Given the description of an element on the screen output the (x, y) to click on. 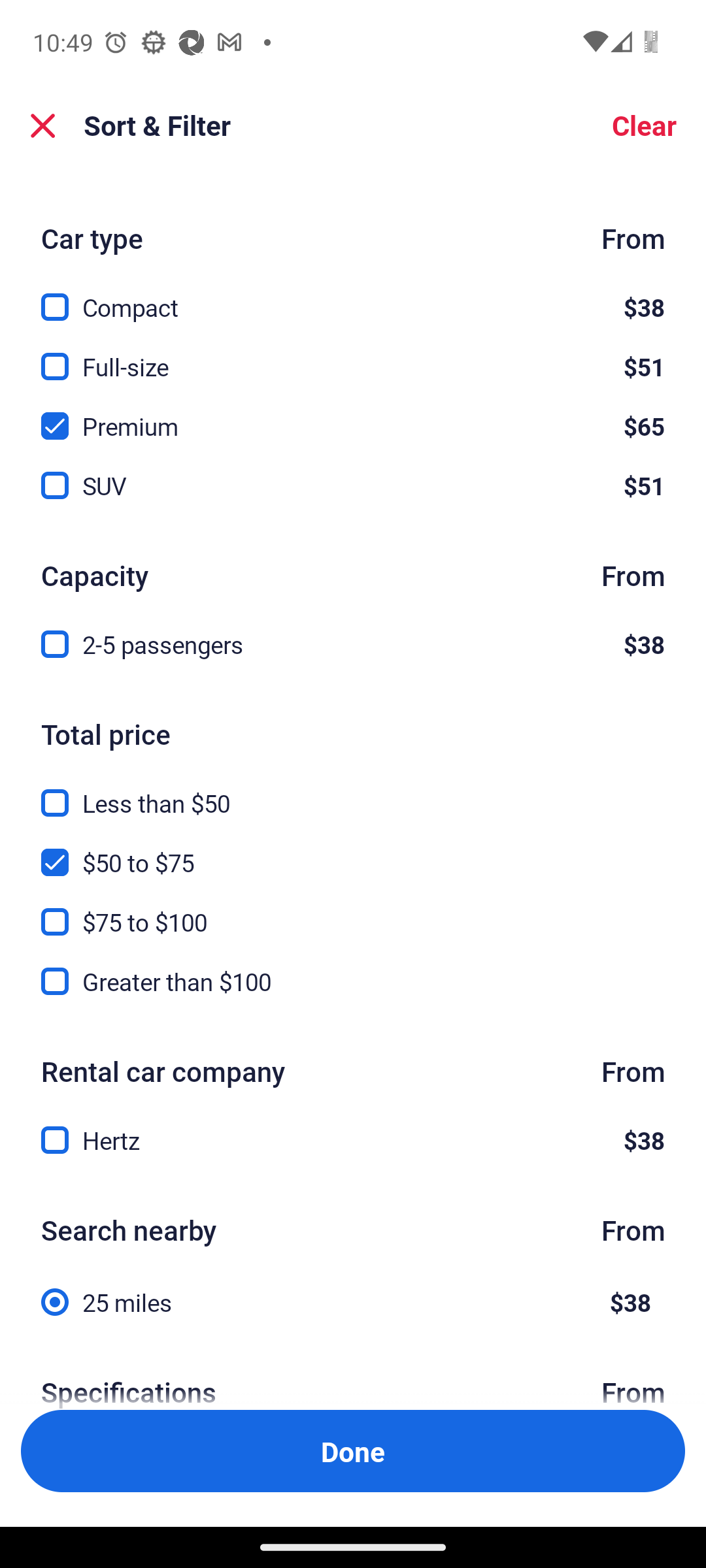
Clear (643, 125)
Close Sort and Filter (43, 125)
Compact, $38 Compact $38 (352, 296)
Full-size, $51 Full-size $51 (352, 355)
Premium, $65 Premium $65 (352, 415)
SUV, $51 SUV $51 (352, 485)
2-5 passengers, $38 2-5 passengers $38 (352, 644)
Less than $50, Less than $50 (352, 791)
$50 to $75, $50 to $75 (352, 851)
$75 to $100, $75 to $100 (352, 910)
Greater than $100, Greater than $100 (352, 981)
Hertz, $38 Hertz $38 (352, 1140)
Apply and close Sort and Filter Done (352, 1450)
